Given the description of an element on the screen output the (x, y) to click on. 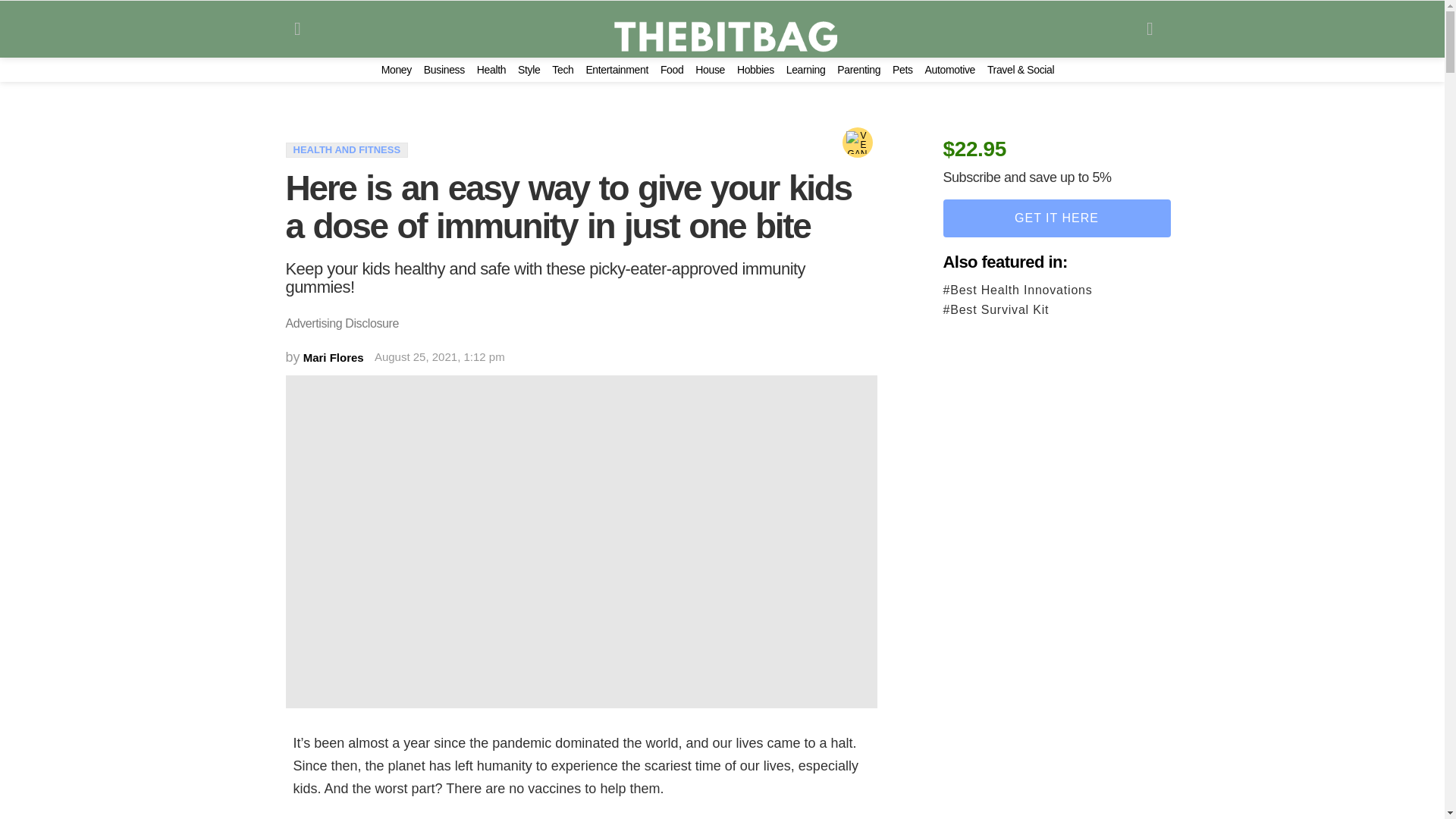
Money (396, 69)
Best Health Innovations (1056, 290)
Style (529, 69)
Vegan (856, 142)
Learning (805, 69)
Menu (296, 28)
HEALTH AND FITNESS (346, 150)
GET IT HERE (1056, 218)
Food (672, 69)
Entertainment (616, 69)
Mari Flores (333, 357)
House (710, 69)
Business (443, 69)
Automotive (949, 69)
Best Survival Kit (1056, 309)
